Given the description of an element on the screen output the (x, y) to click on. 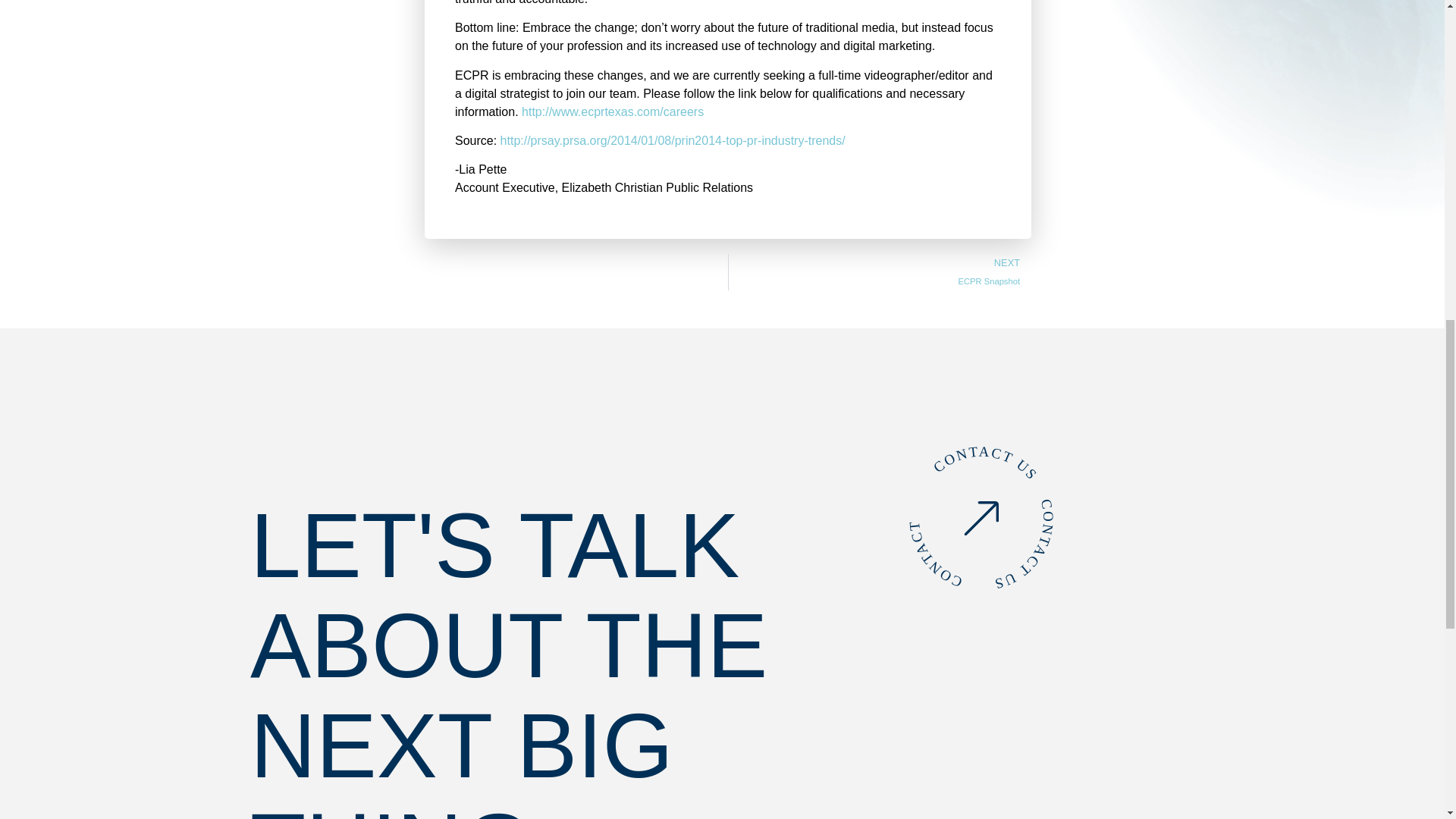
CONTACT US CONTACT US CONTACT US (879, 271)
CONTACT US CONTACT US CONTACT US (952, 490)
